Given the description of an element on the screen output the (x, y) to click on. 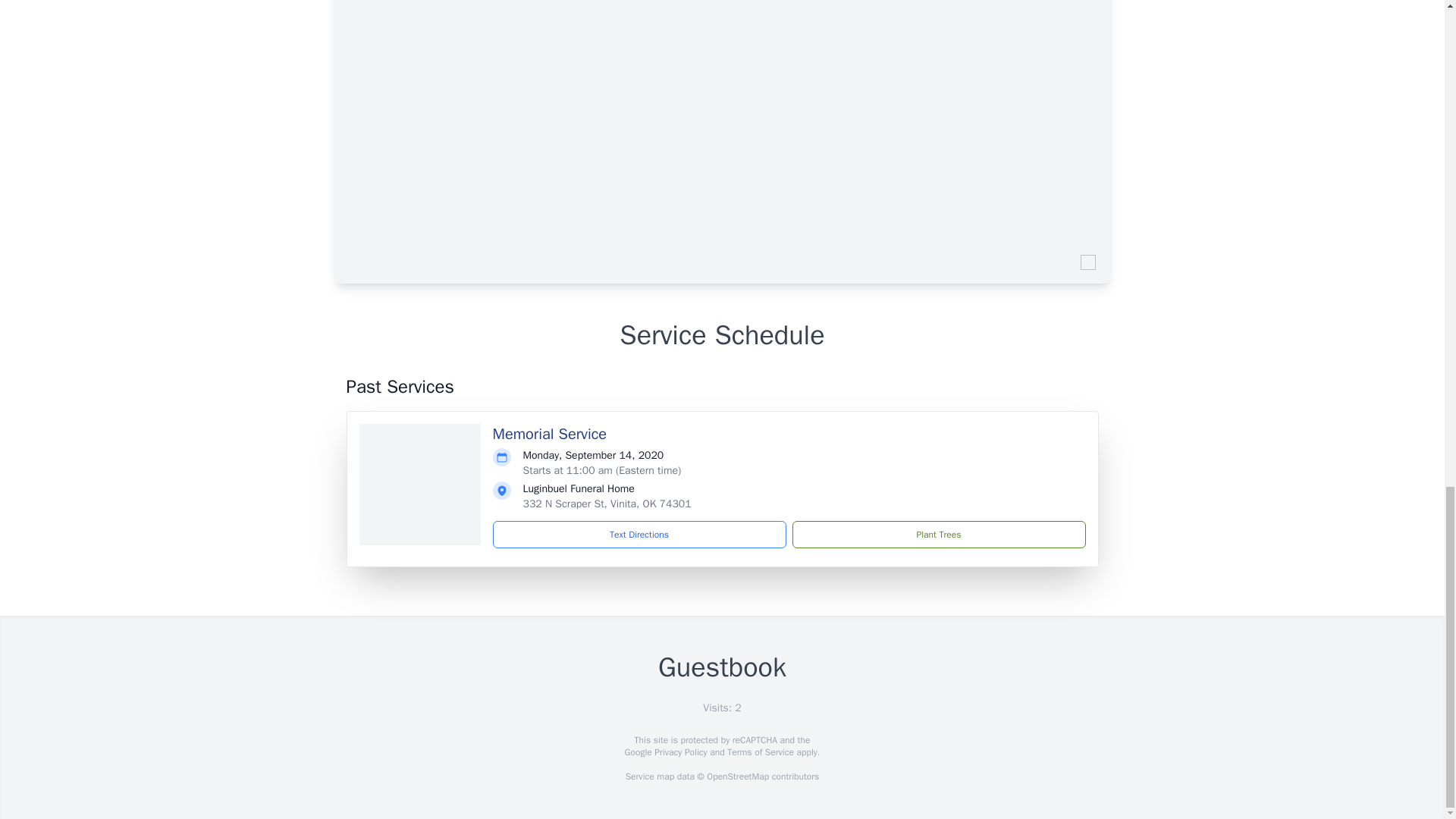
332 N Scraper St, Vinita, OK 74301 (606, 503)
Plant Trees (938, 533)
Text Directions (639, 533)
Privacy Policy (679, 752)
Terms of Service (759, 752)
OpenStreetMap (737, 776)
